Given the description of an element on the screen output the (x, y) to click on. 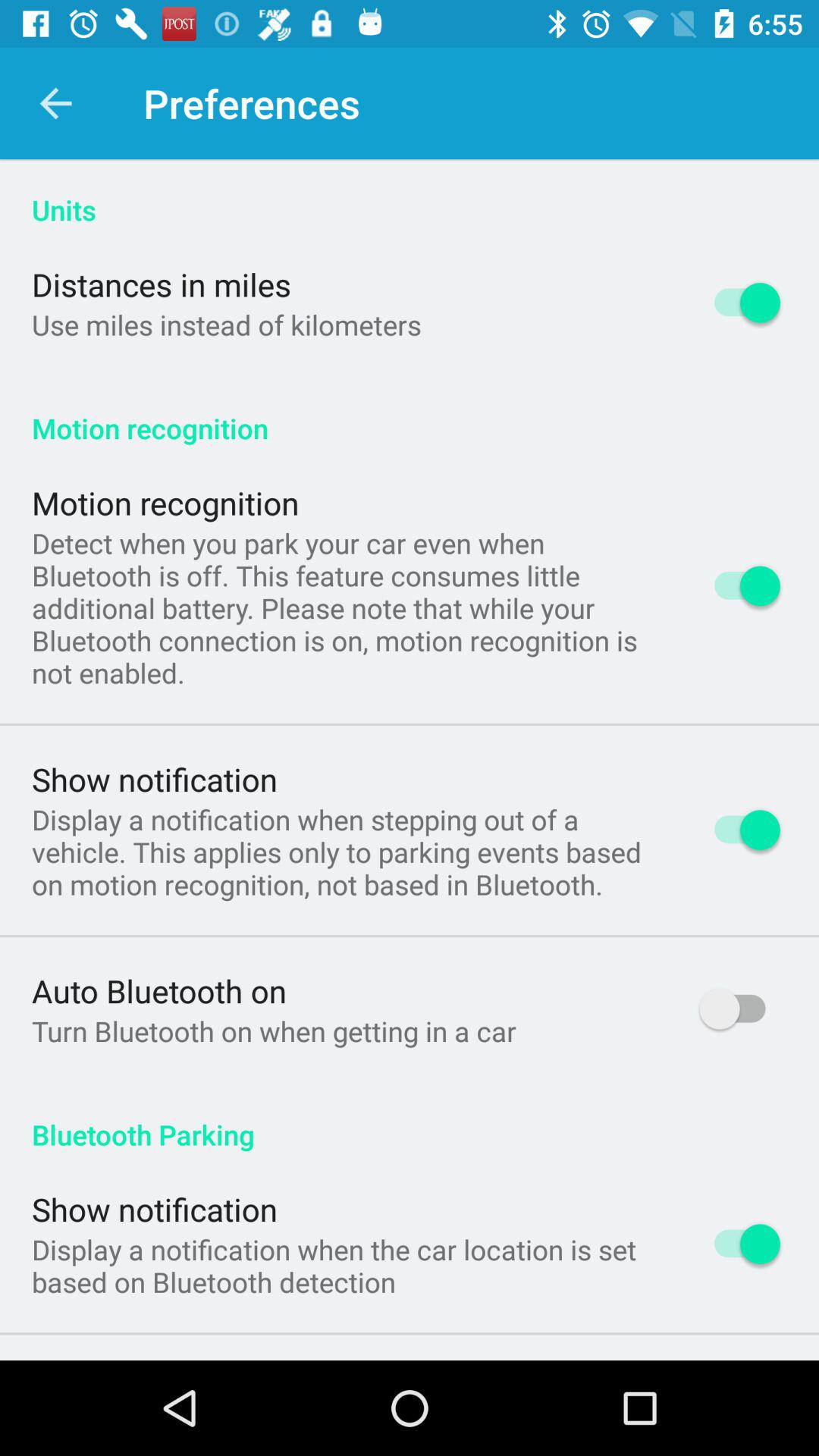
open the app above the motion recognition (226, 324)
